Given the description of an element on the screen output the (x, y) to click on. 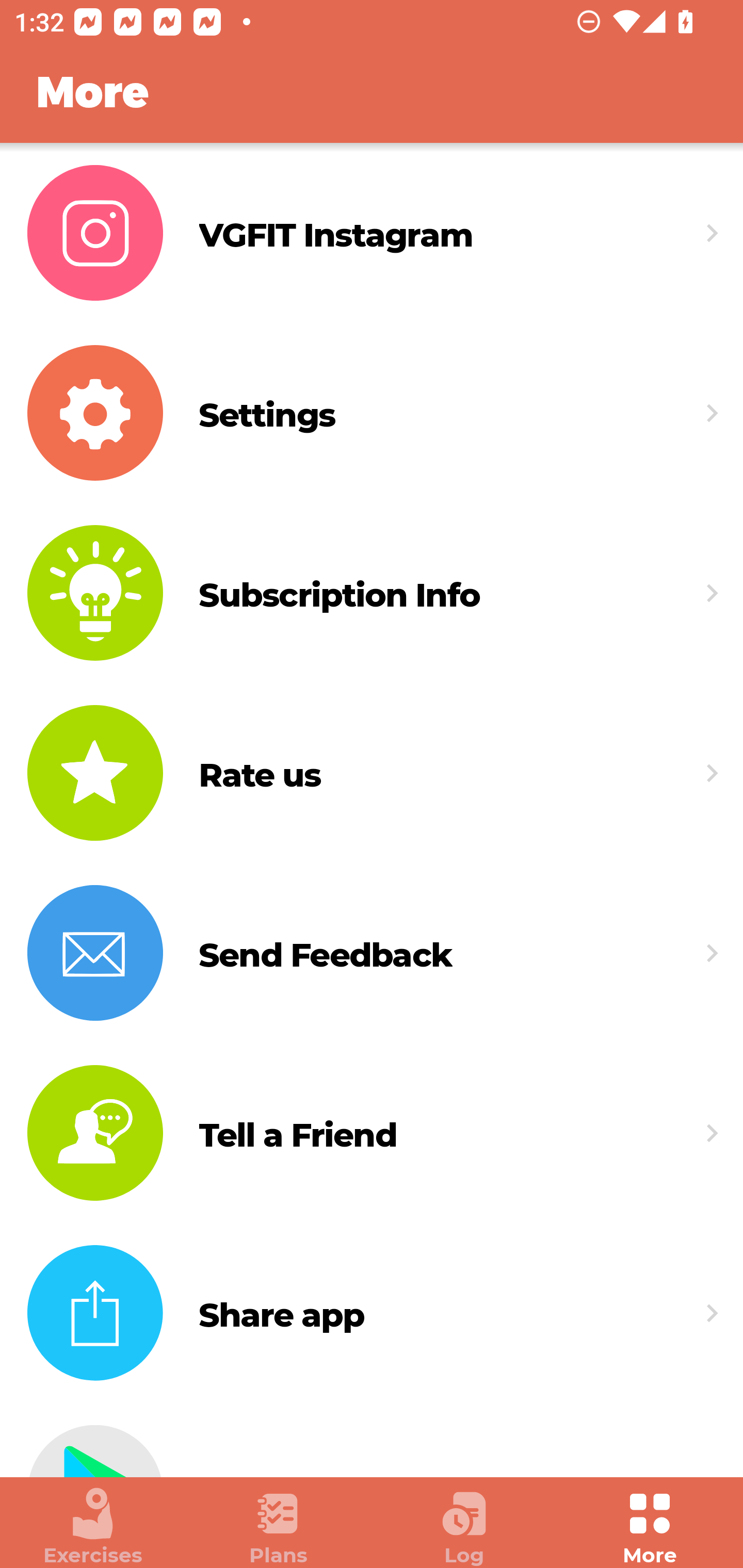
VGFIT Instagram (371, 232)
Settings (371, 413)
Subscription Info (371, 593)
Rate us (371, 773)
Send Feedback (371, 952)
Tell a Friend (371, 1132)
Share app (371, 1313)
Exercises (92, 1527)
Plans (278, 1527)
Log (464, 1527)
More (650, 1527)
